Given the description of an element on the screen output the (x, y) to click on. 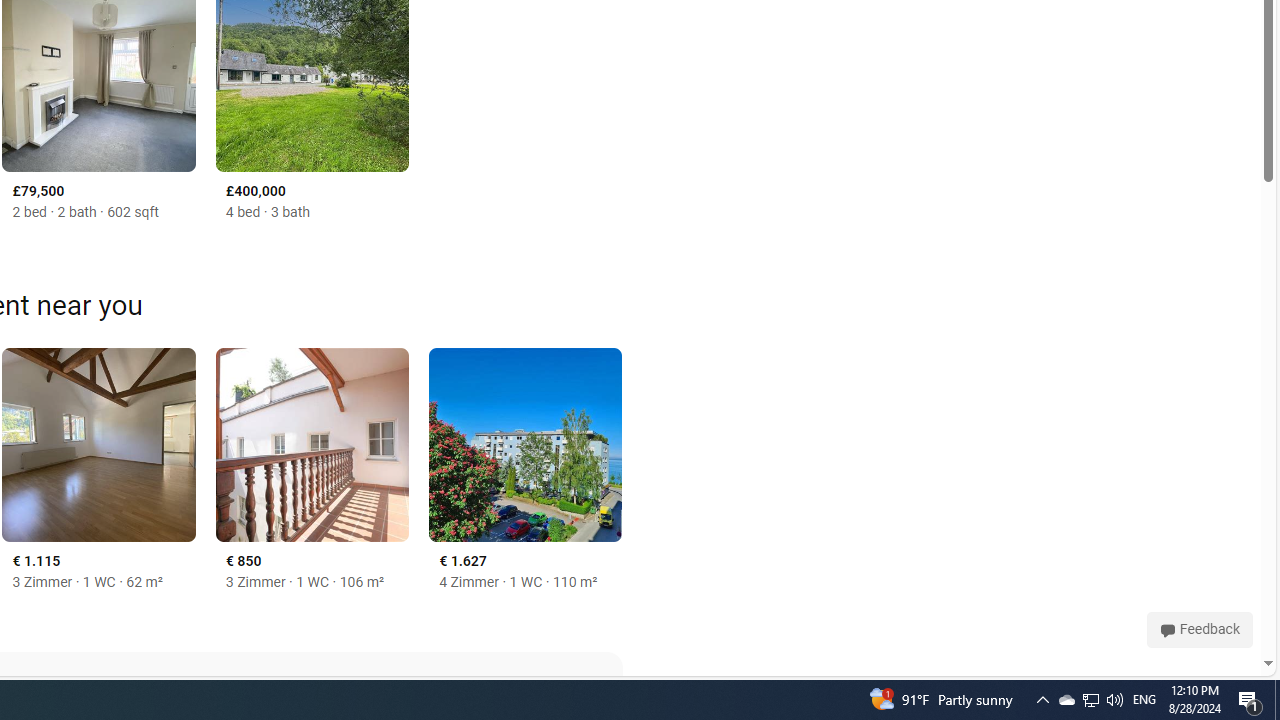
Lochau, Tirol, Vorarlberg 6900 (525, 444)
